Given the description of an element on the screen output the (x, y) to click on. 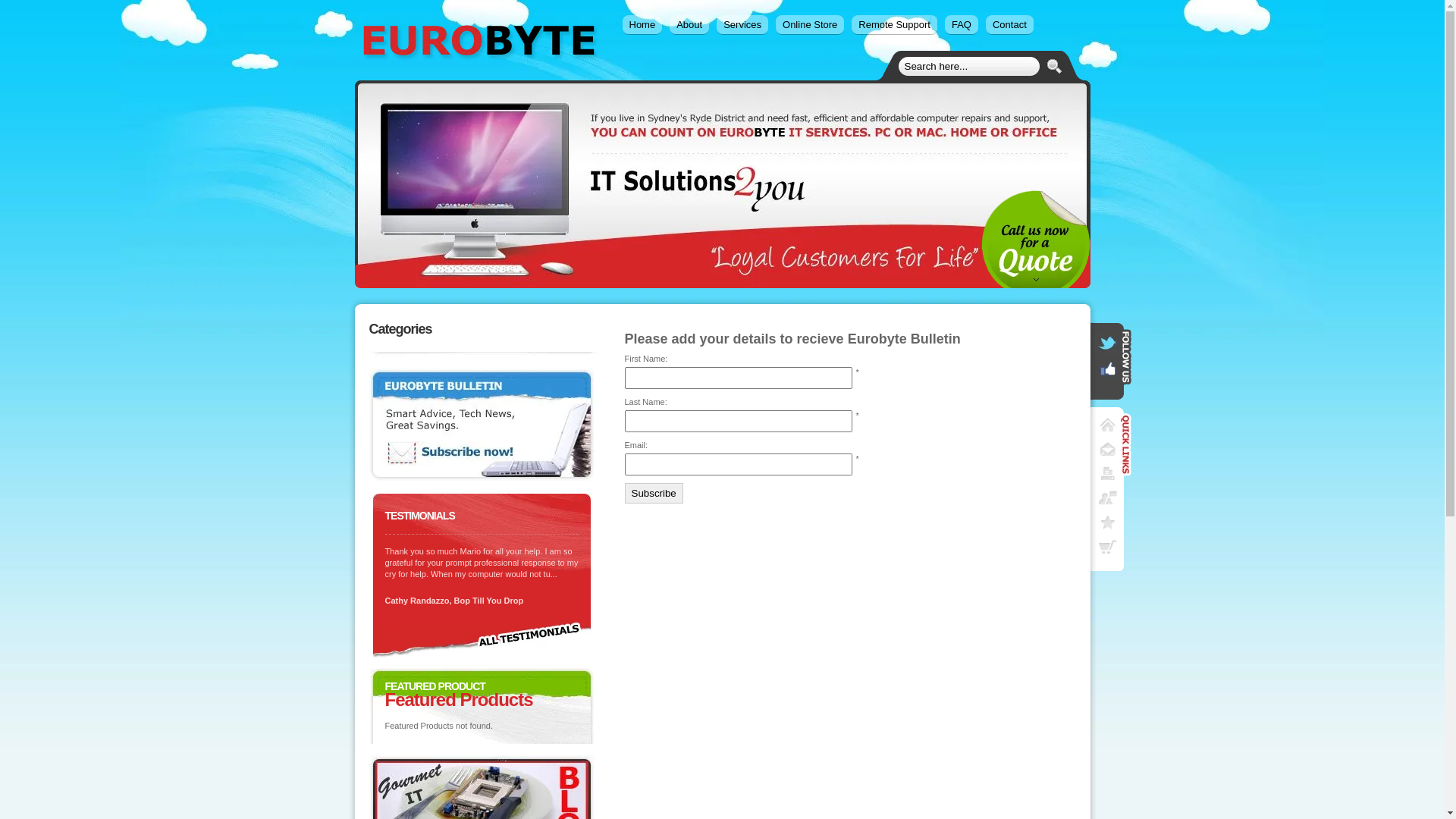
Subscribe Element type: text (653, 493)
Services Element type: text (742, 24)
  Element type: text (1107, 424)
Remote Support Element type: text (894, 24)
About Element type: text (689, 24)
  Element type: text (1107, 546)
Home Element type: text (641, 24)
  Element type: text (1107, 448)
  Element type: text (1107, 473)
  Element type: text (1107, 522)
Online Store Element type: text (809, 24)
Search Element type: hover (1053, 70)
  Element type: text (1107, 497)
Contact Element type: text (1009, 24)
FAQ Element type: text (961, 24)
